Given the description of an element on the screen output the (x, y) to click on. 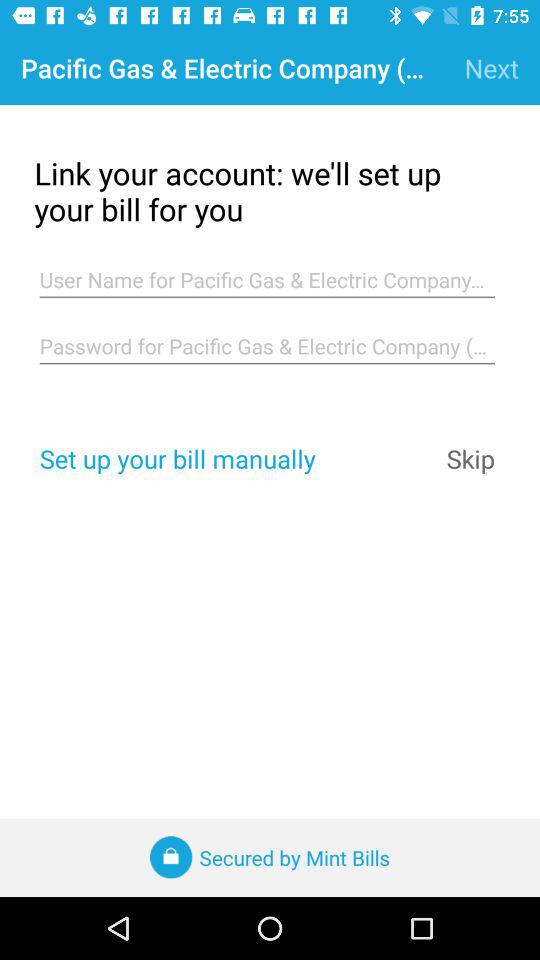
open next item (491, 67)
